Given the description of an element on the screen output the (x, y) to click on. 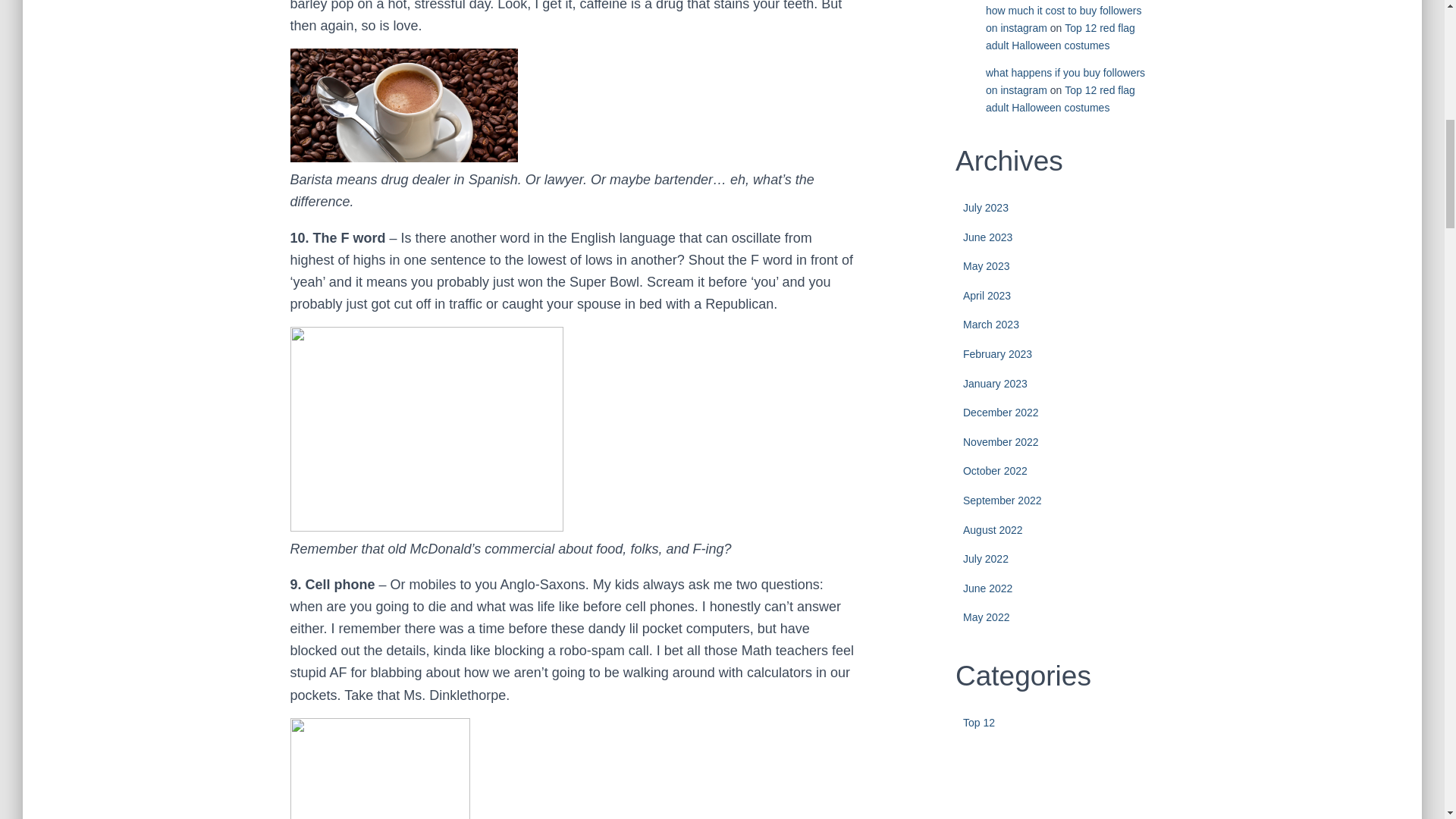
Top 12 red flag adult Halloween costumes (1060, 98)
Top 12 red flag adult Halloween costumes (1060, 36)
how much it cost to buy followers on instagram (1063, 19)
May 2023 (985, 265)
June 2023 (986, 236)
what happens if you buy followers on instagram (1064, 81)
July 2023 (985, 207)
